Given the description of an element on the screen output the (x, y) to click on. 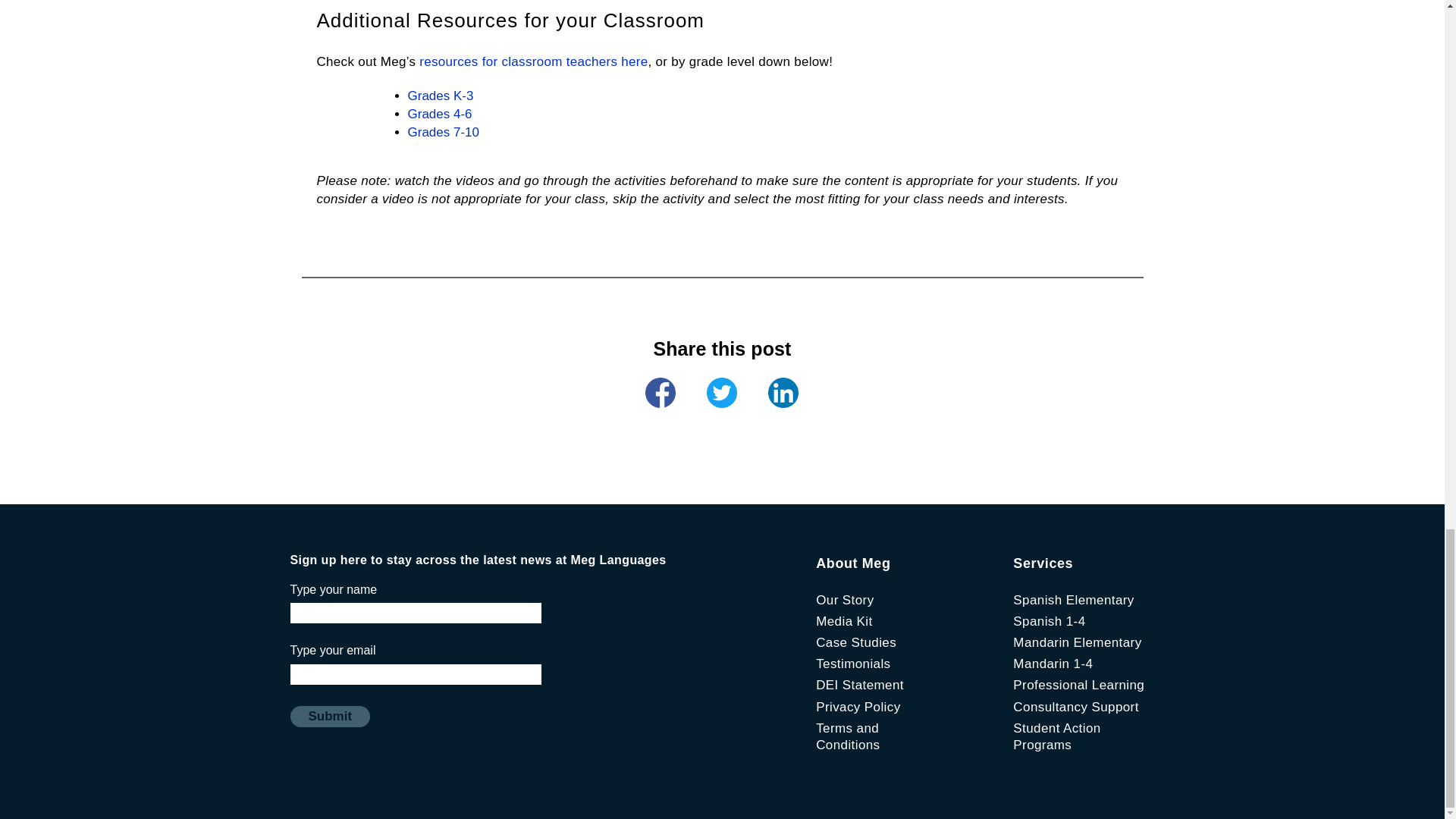
Terms and Conditions (847, 736)
Grades 4-6 (439, 114)
Media Kit (843, 621)
What is the Qingming Festival? (660, 392)
Spanish 1-4 (1048, 621)
Spanish Elementary (1073, 599)
Privacy Policy (857, 707)
Mandarin 1-4 (1053, 663)
Grades 7-10 (443, 132)
Share on Twitter (721, 392)
Professional Learning (1078, 685)
Testimonials (852, 663)
DEI Statement (859, 685)
Grades K-3 (440, 95)
What is the Qingming Festival? (782, 392)
